Given the description of an element on the screen output the (x, y) to click on. 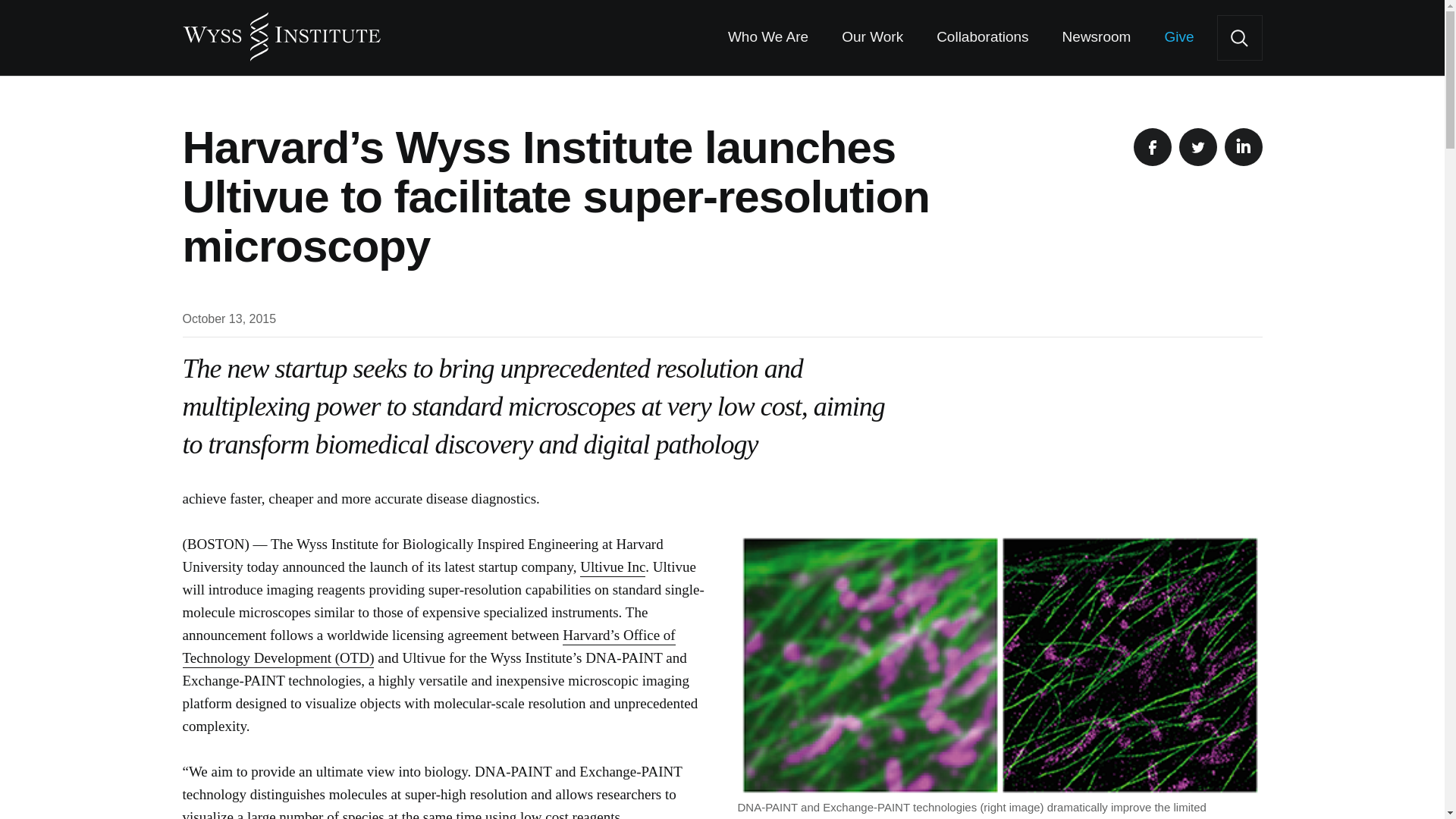
Wyss Institute (281, 30)
Search Site (1238, 37)
Give (1178, 38)
Ultivue Inc (612, 567)
Our Work (871, 38)
Collaborations (981, 38)
Twitter (1196, 146)
Who We Are (768, 38)
Newsroom (1096, 38)
Linked in (1243, 146)
Facebook (1151, 146)
Wyss Institute (281, 30)
